Given the description of an element on the screen output the (x, y) to click on. 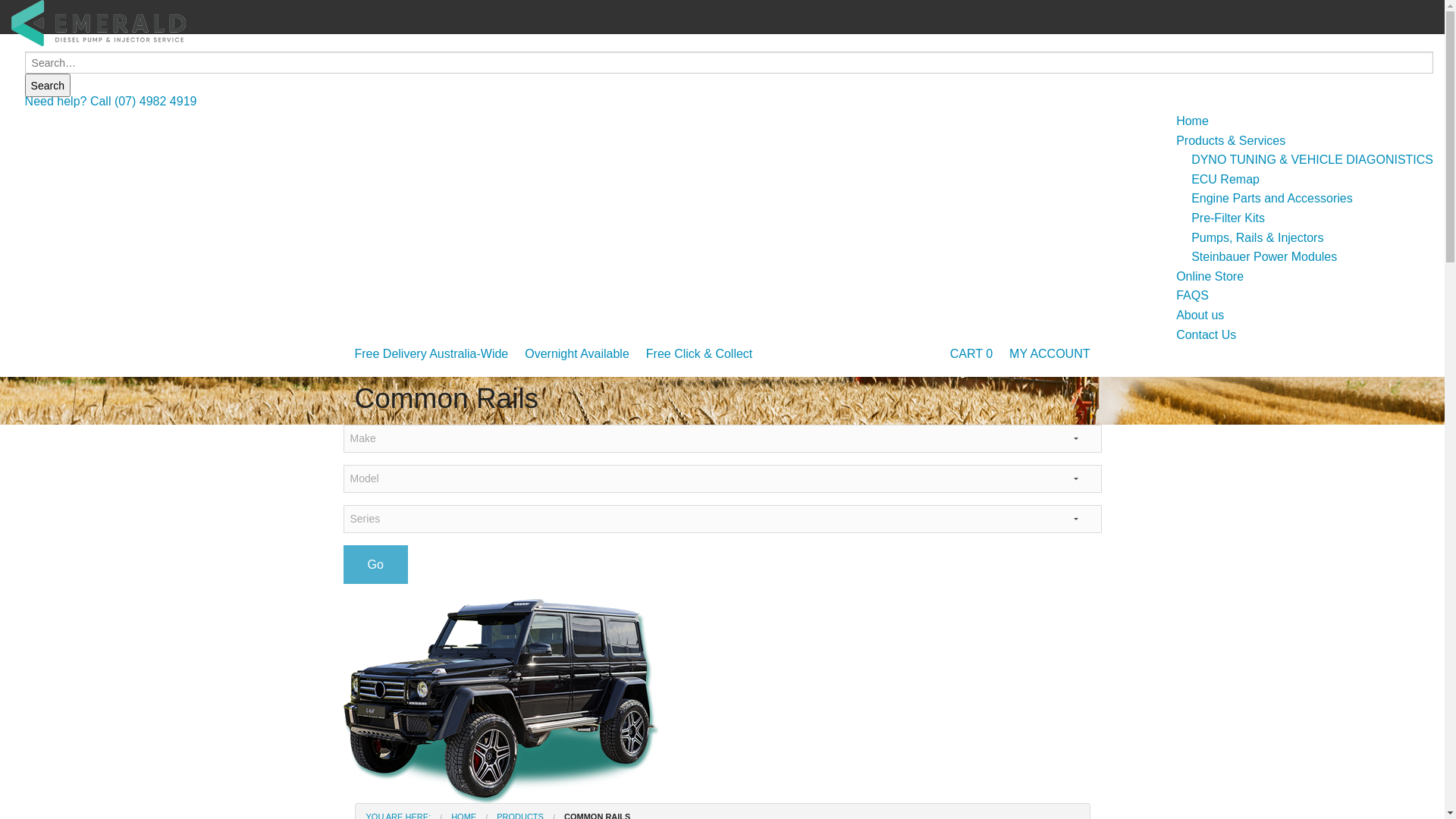
Click to view Search Element type: hover (729, 68)
Overnight Available Element type: text (576, 354)
Free Click & Collect Element type: text (699, 354)
Online Store Element type: text (1209, 275)
Steinbauer Power Modules Element type: text (1263, 256)
Need help? Call (07) 4982 4919 Element type: text (111, 100)
Home Element type: text (1192, 120)
Contact Us Element type: text (1206, 333)
ECU Remap Element type: text (1225, 178)
CART 0 Element type: text (971, 354)
FAQS Element type: text (1192, 294)
DYNO TUNING & VEHICLE DIAGONISTICS Element type: text (1312, 159)
MY ACCOUNT Element type: text (1049, 354)
Emerald Diesel Pump & Injector Service Element type: hover (98, 21)
Products & Services Element type: text (1230, 140)
Search Element type: text (47, 85)
Pre-Filter Kits Element type: text (1227, 217)
Free Delivery Australia-Wide Element type: text (431, 354)
Pumps, Rails & Injectors Element type: text (1257, 237)
Go Element type: text (374, 564)
Engine Parts and Accessories Element type: text (1271, 197)
About us Element type: text (1199, 314)
